Given the description of an element on the screen output the (x, y) to click on. 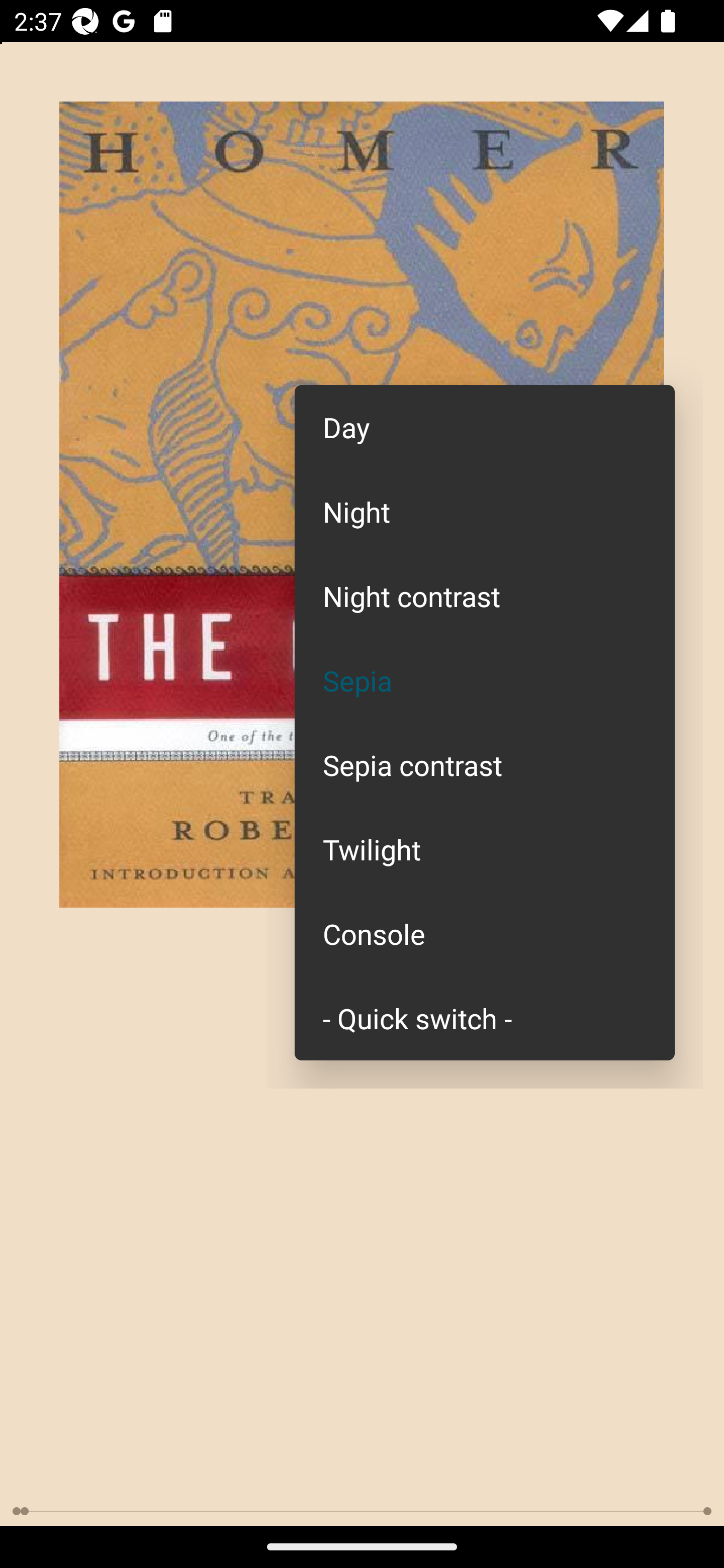
Day (484, 426)
Night (484, 510)
Night contrast (484, 595)
Sepia (484, 680)
Sepia contrast (484, 764)
Twilight (484, 849)
Console (484, 933)
- Quick switch - (484, 1017)
